Given the description of an element on the screen output the (x, y) to click on. 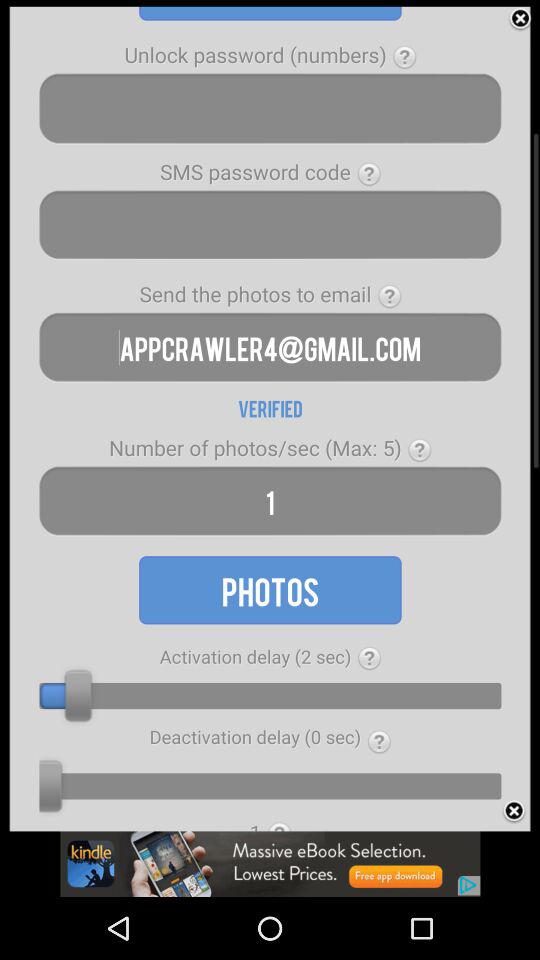
close window (520, 19)
